Given the description of an element on the screen output the (x, y) to click on. 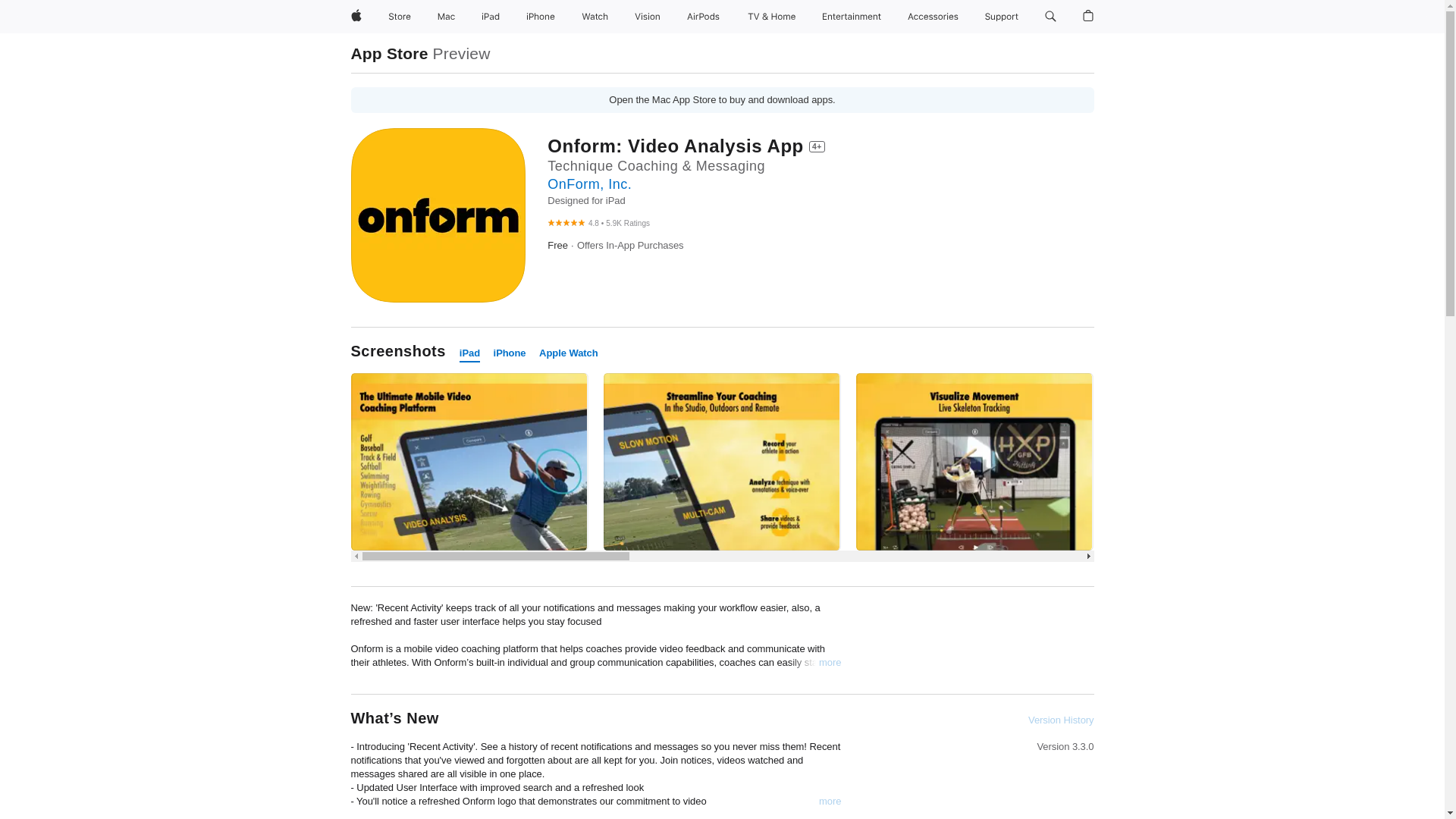
Support (1001, 16)
Entertainment (851, 16)
Watch (594, 16)
Accessories (932, 16)
App Store (389, 53)
AirPods (703, 16)
more (829, 662)
iPad (490, 16)
Vision (647, 16)
more (829, 801)
OnForm, Inc. (589, 183)
iPad (470, 353)
Apple Watch (568, 353)
iPhone (539, 16)
Store (398, 16)
